Given the description of an element on the screen output the (x, y) to click on. 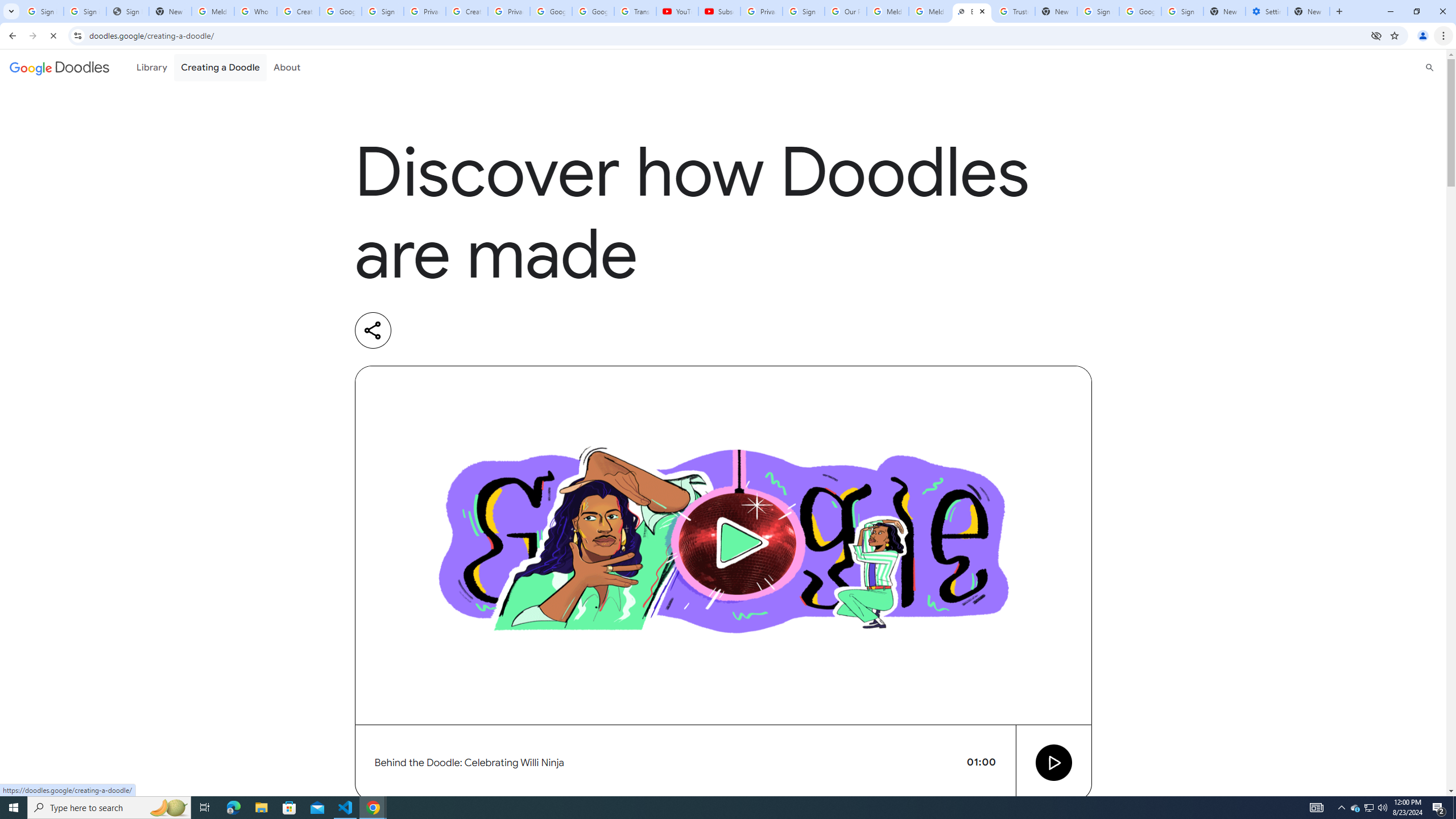
Create your Google Account (298, 11)
Create your Google Account (467, 11)
Who is my administrator? - Google Account Help (255, 11)
Google Cybersecurity Innovations - Google Safety Center (1139, 11)
Share on twitter (465, 330)
Creating a Doodle (220, 67)
Sign in - Google Accounts (1182, 11)
Google doodles (59, 67)
Sign in - Google Accounts (85, 11)
